Given the description of an element on the screen output the (x, y) to click on. 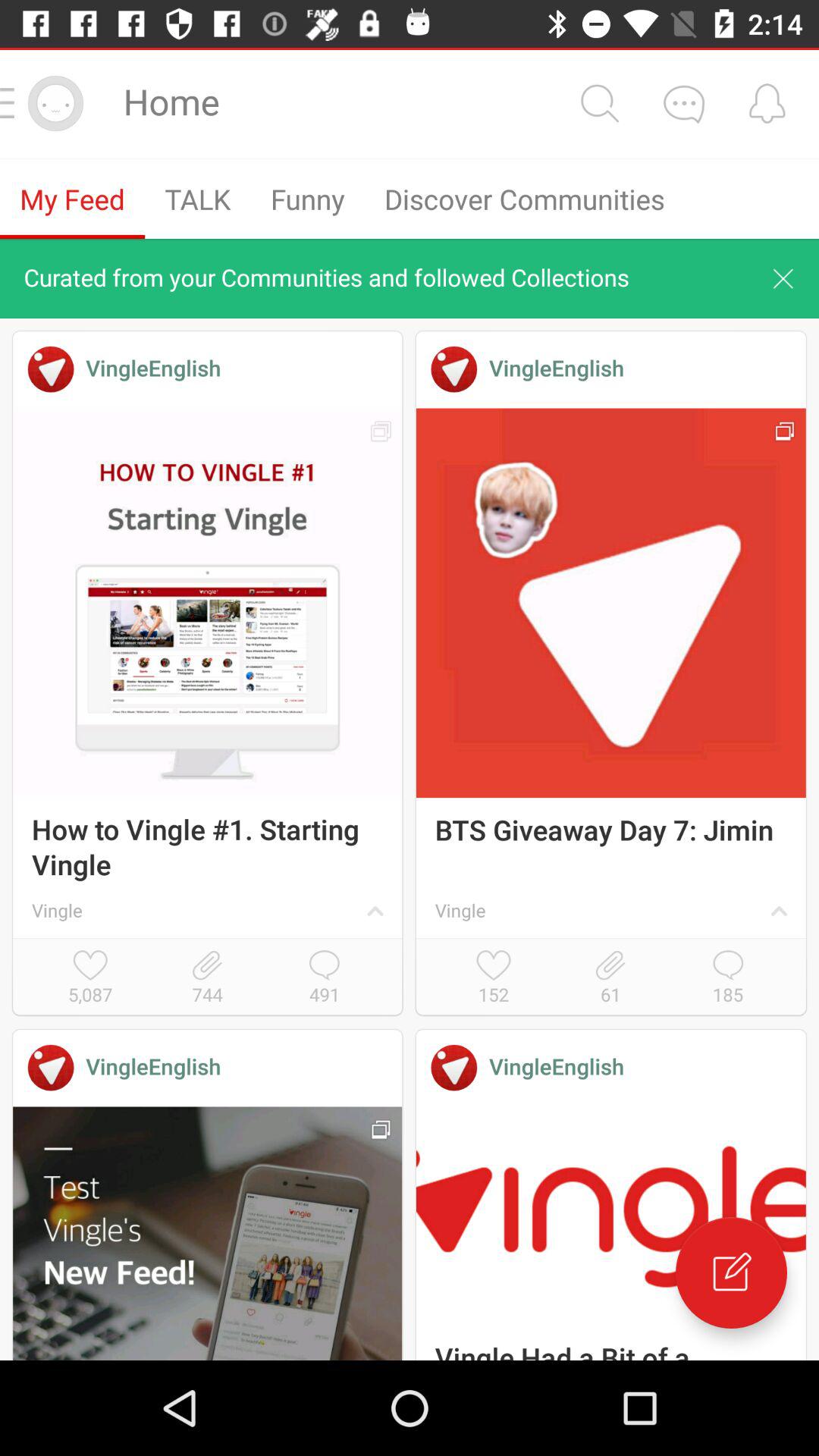
jump until 744 (207, 978)
